Given the description of an element on the screen output the (x, y) to click on. 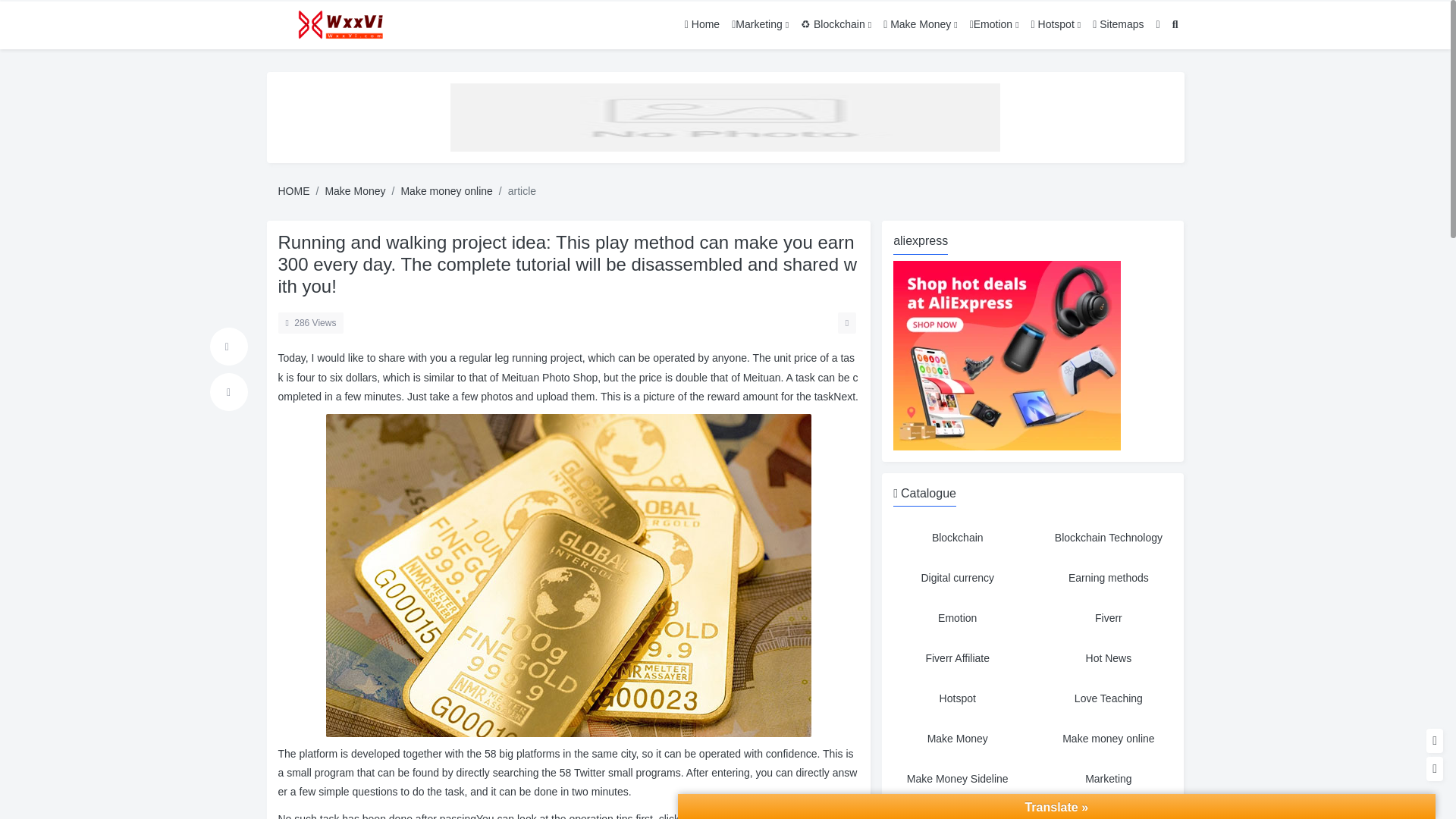
Blockchain Technology (1108, 538)
Emotion (957, 618)
Hotspot (957, 698)
Make Money Sideline (957, 778)
Marketing (1108, 778)
NFT (1108, 812)
Metaverse (957, 812)
Make Money (957, 738)
Digital currency (957, 578)
Fiverr Affiliate (957, 658)
Earning methods (1108, 578)
Make money online (1108, 738)
Blockchain (957, 538)
Hot News (1108, 658)
Fiverr (1108, 618)
